Given the description of an element on the screen output the (x, y) to click on. 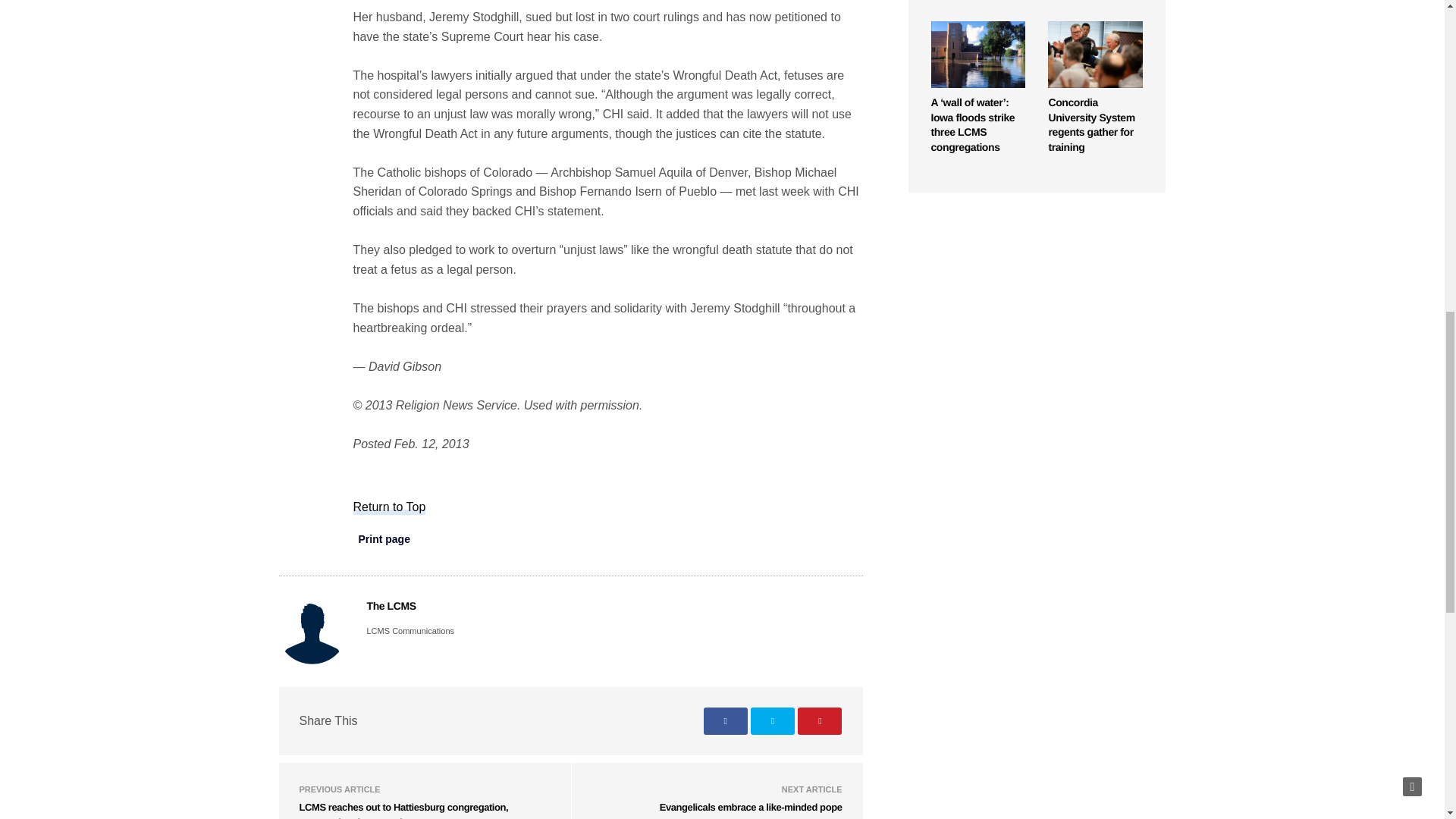
Evangelicals embrace a like-minded pope (751, 807)
Concordia University System regents gather for training (1091, 124)
Concordia University System regents gather for training (1095, 54)
